Given the description of an element on the screen output the (x, y) to click on. 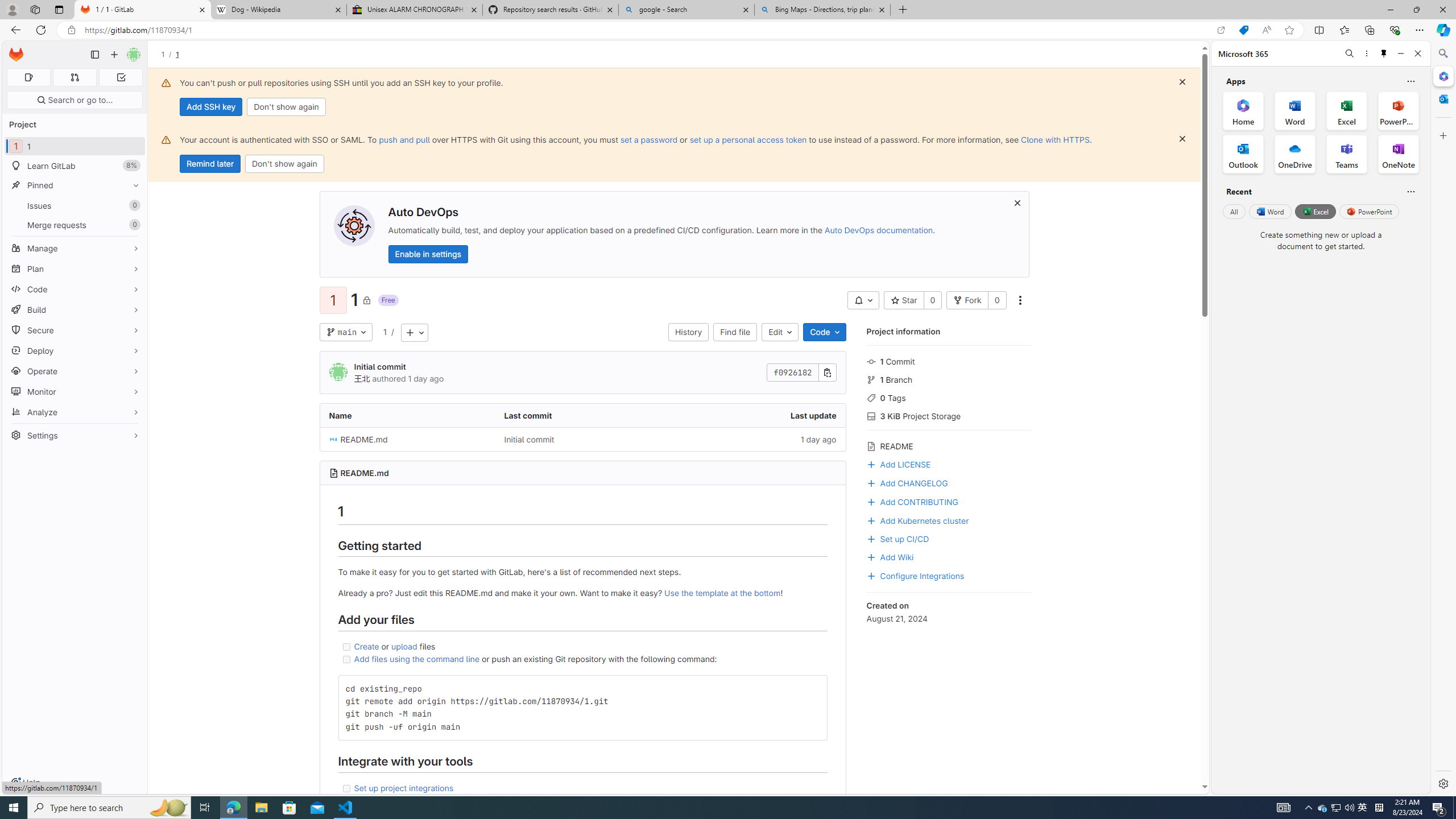
Build (74, 309)
Use the template at the bottom (721, 593)
 Star (903, 300)
1 Commit (948, 360)
Configure Integrations (914, 574)
main (345, 331)
Remind later (210, 163)
Add Wiki (890, 555)
Is this helpful? (1410, 191)
Enable in settings (427, 253)
Add Kubernetes cluster (948, 519)
Primary navigation sidebar (94, 54)
